Given the description of an element on the screen output the (x, y) to click on. 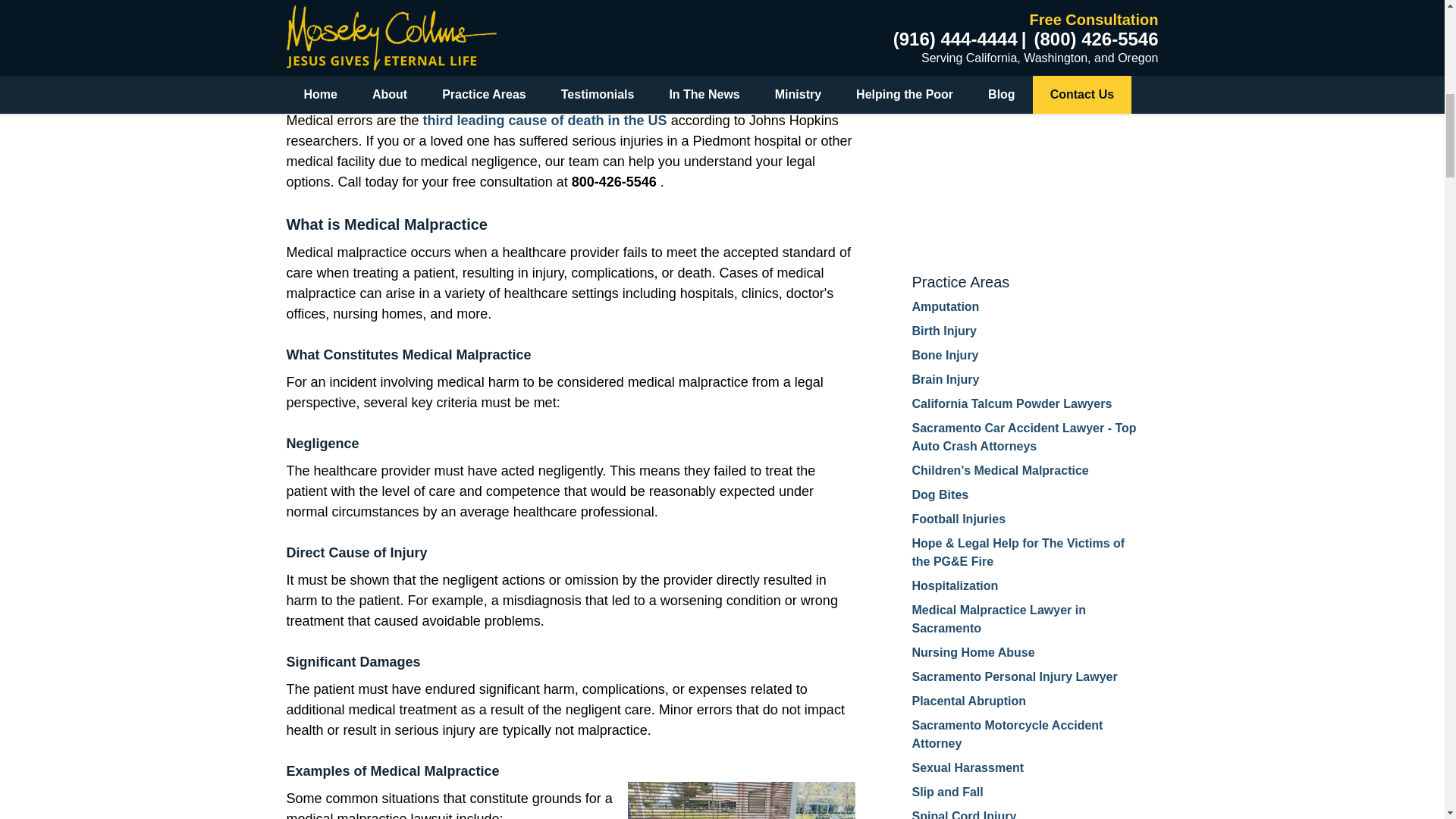
Bone Injury (944, 354)
Birth Injury (943, 330)
Brain Injury (944, 379)
California Talcum Powder Lawyers (1011, 403)
third leading cause of death in the US (547, 120)
Practice Areas (960, 281)
Amputation (944, 306)
